Given the description of an element on the screen output the (x, y) to click on. 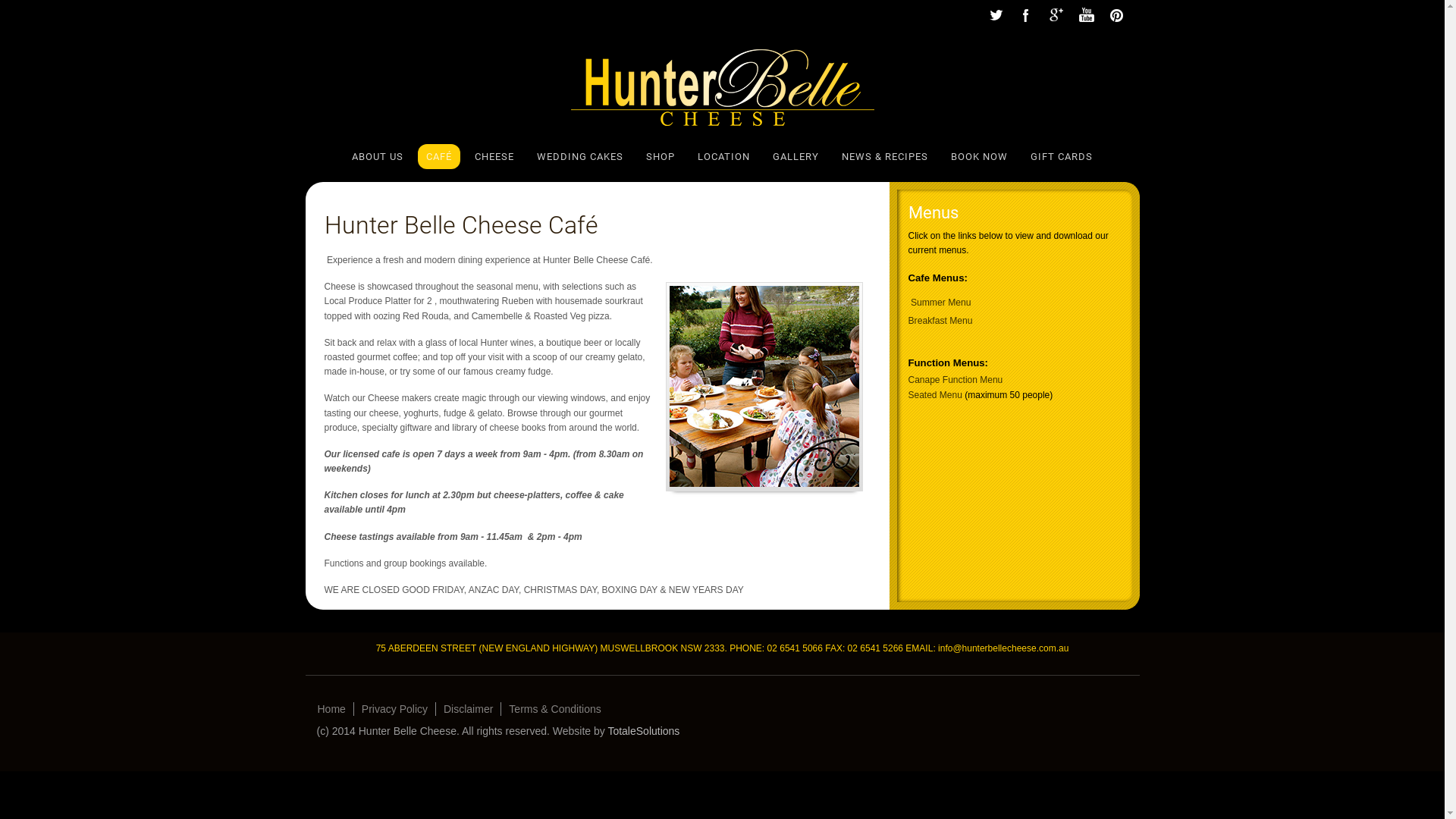
Youtube Element type: text (1085, 15)
NEWS & RECIPES Element type: text (884, 156)
TotaleSolutions Element type: text (643, 730)
  Element type: text (909, 334)
CHEESE Element type: text (494, 156)
Pinterest Element type: text (1116, 15)
GIFT CARDS Element type: text (1061, 156)
Privacy Policy Element type: text (395, 708)
Seated Menu Element type: text (935, 394)
LOCATION Element type: text (723, 156)
Hunter Belle Cheese Cafe Element type: hover (763, 386)
Google+ Element type: text (1055, 15)
ABOUT US Element type: text (377, 156)
 Summer Menu Element type: text (939, 302)
SHOP Element type: text (660, 156)
Terms & Conditions Element type: text (554, 708)
WEDDING CAKES Element type: text (579, 156)
GALLERY Element type: text (795, 156)
info@hunterbellecheese.com.au Element type: text (1003, 648)
Canape Function Menu Element type: text (955, 379)
BOOK NOW Element type: text (978, 156)
Facebook Element type: text (1025, 15)
Home Element type: text (331, 708)
Twitter Element type: text (994, 15)
Disclaimer Element type: text (468, 708)
Breakfast Menu Element type: text (940, 320)
